Given the description of an element on the screen output the (x, y) to click on. 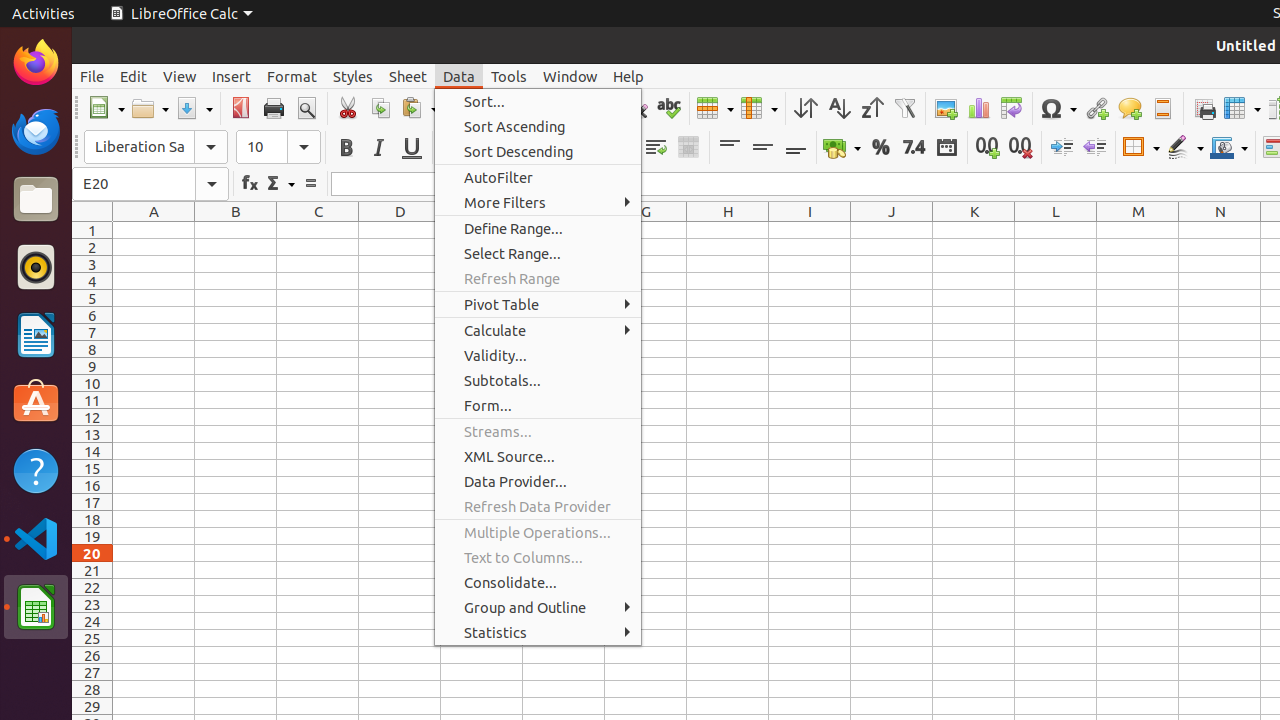
N1 Element type: table-cell (1220, 230)
Calculate Element type: menu (538, 330)
Sort Ascending Element type: menu-item (538, 126)
Chart Element type: push-button (978, 108)
Define Range... Element type: menu-item (538, 228)
